Given the description of an element on the screen output the (x, y) to click on. 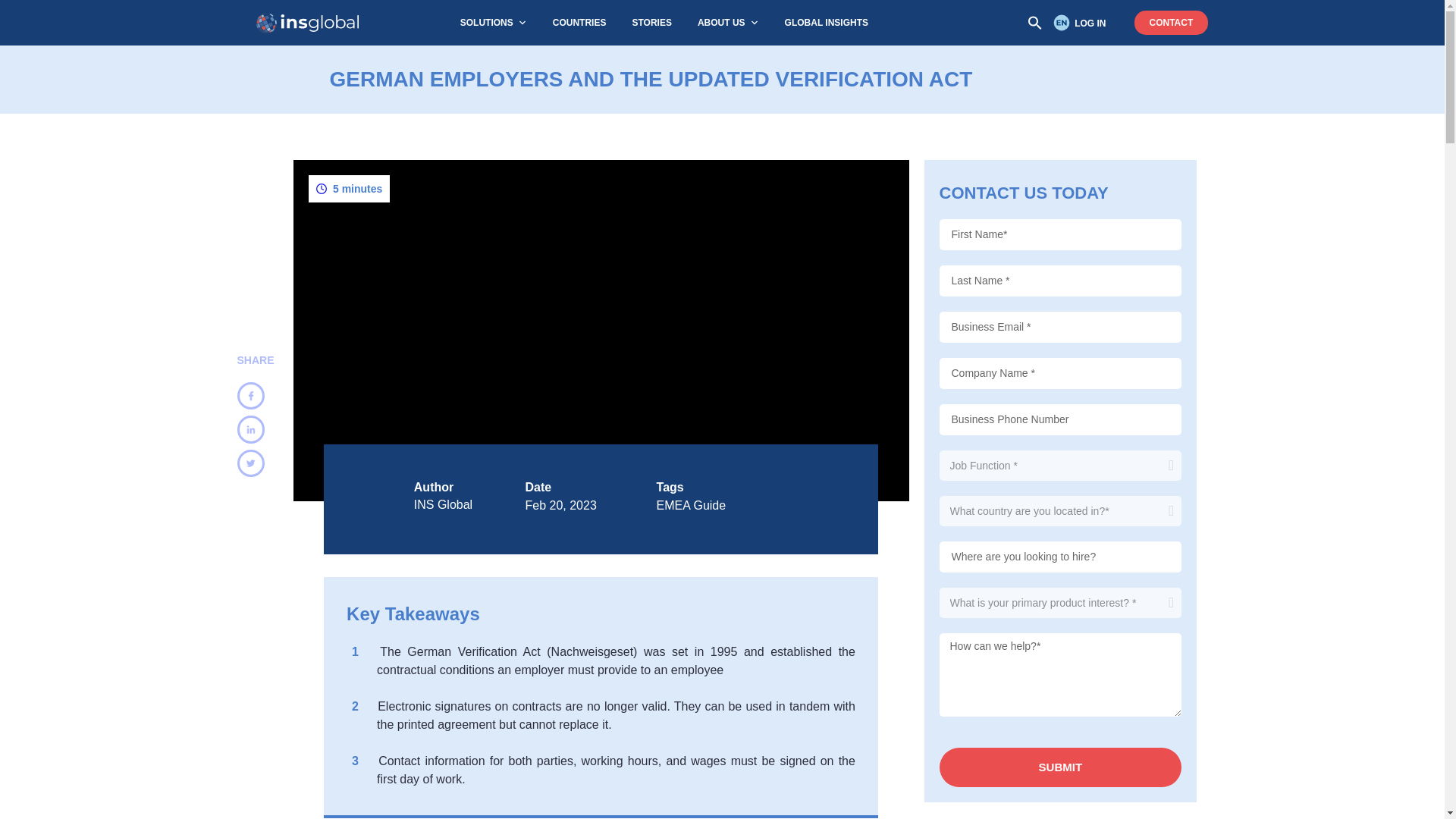
GLOBAL INSIGHTS (825, 22)
STORIES (651, 22)
COUNTRIES (579, 22)
ABOUT US (728, 22)
SOLUTIONS (493, 22)
